Given the description of an element on the screen output the (x, y) to click on. 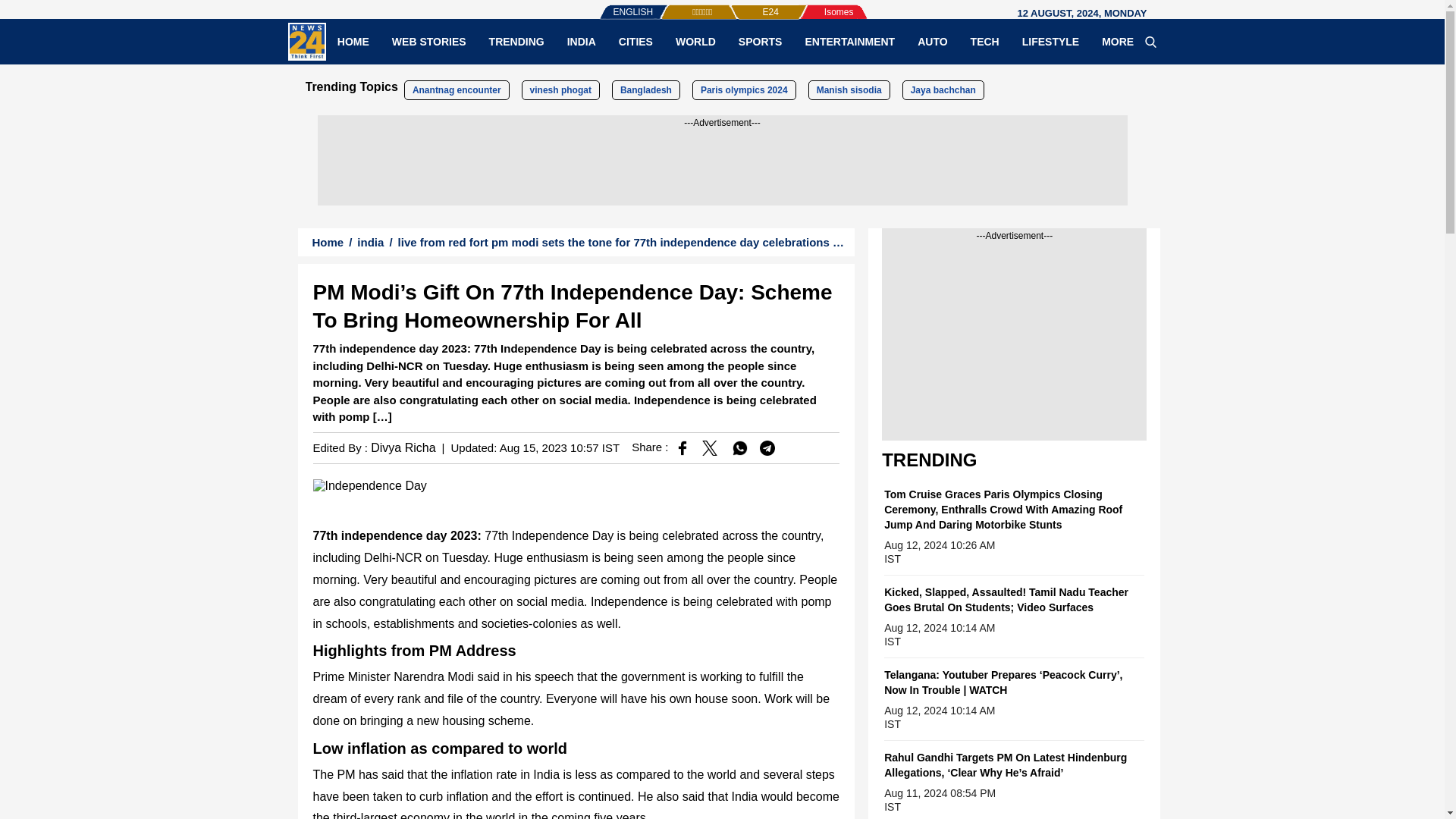
HOME (353, 41)
E24 (744, 4)
WEB STORIES (428, 41)
SPORTS (759, 41)
INDIA (581, 41)
LIFESTYLE (1050, 41)
CITIES (635, 41)
TECH (984, 41)
WORLD (694, 41)
TRENDING (516, 41)
